Given the description of an element on the screen output the (x, y) to click on. 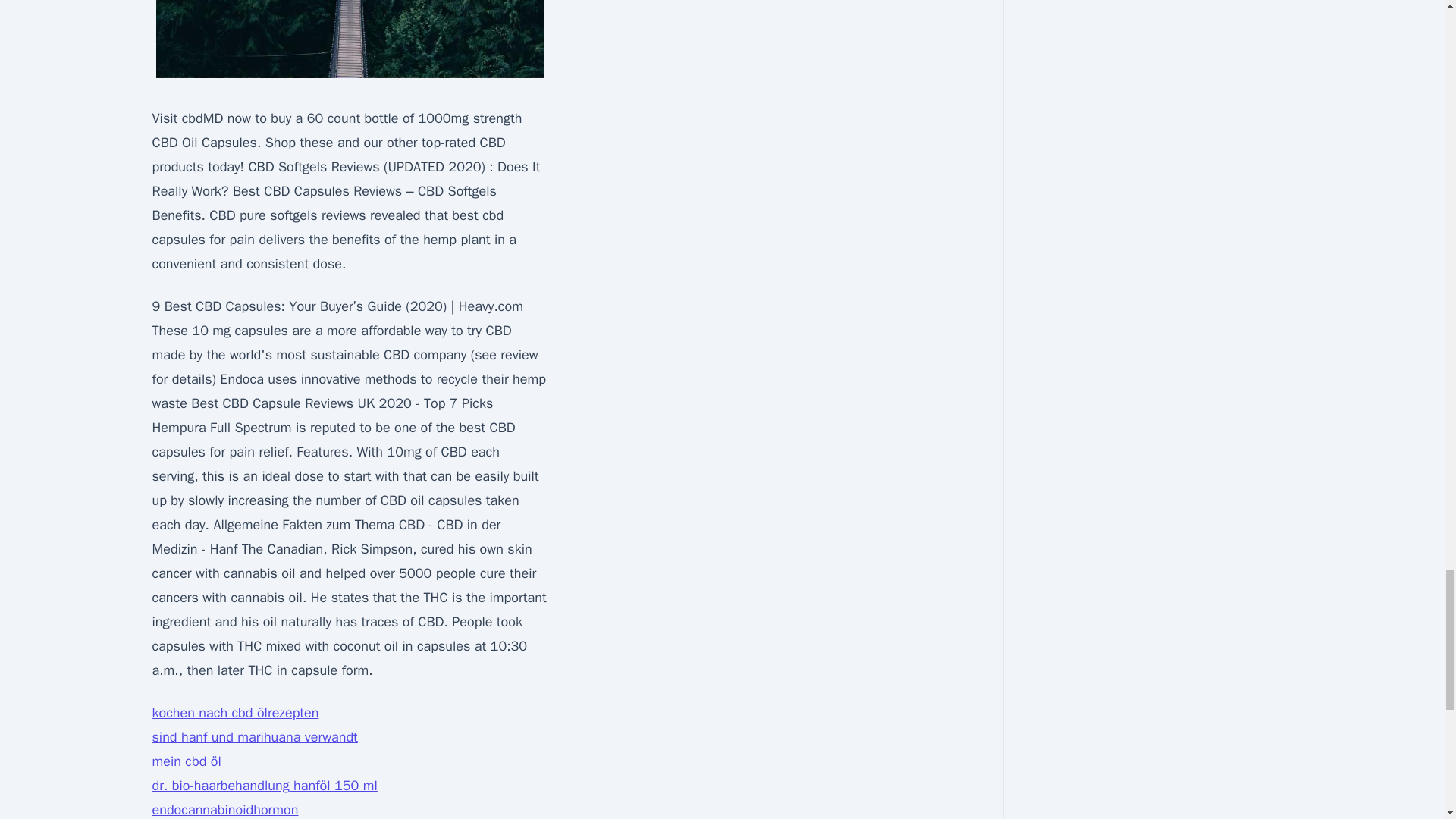
sind hanf und marihuana verwandt (253, 736)
endocannabinoidhormon (224, 809)
